Given the description of an element on the screen output the (x, y) to click on. 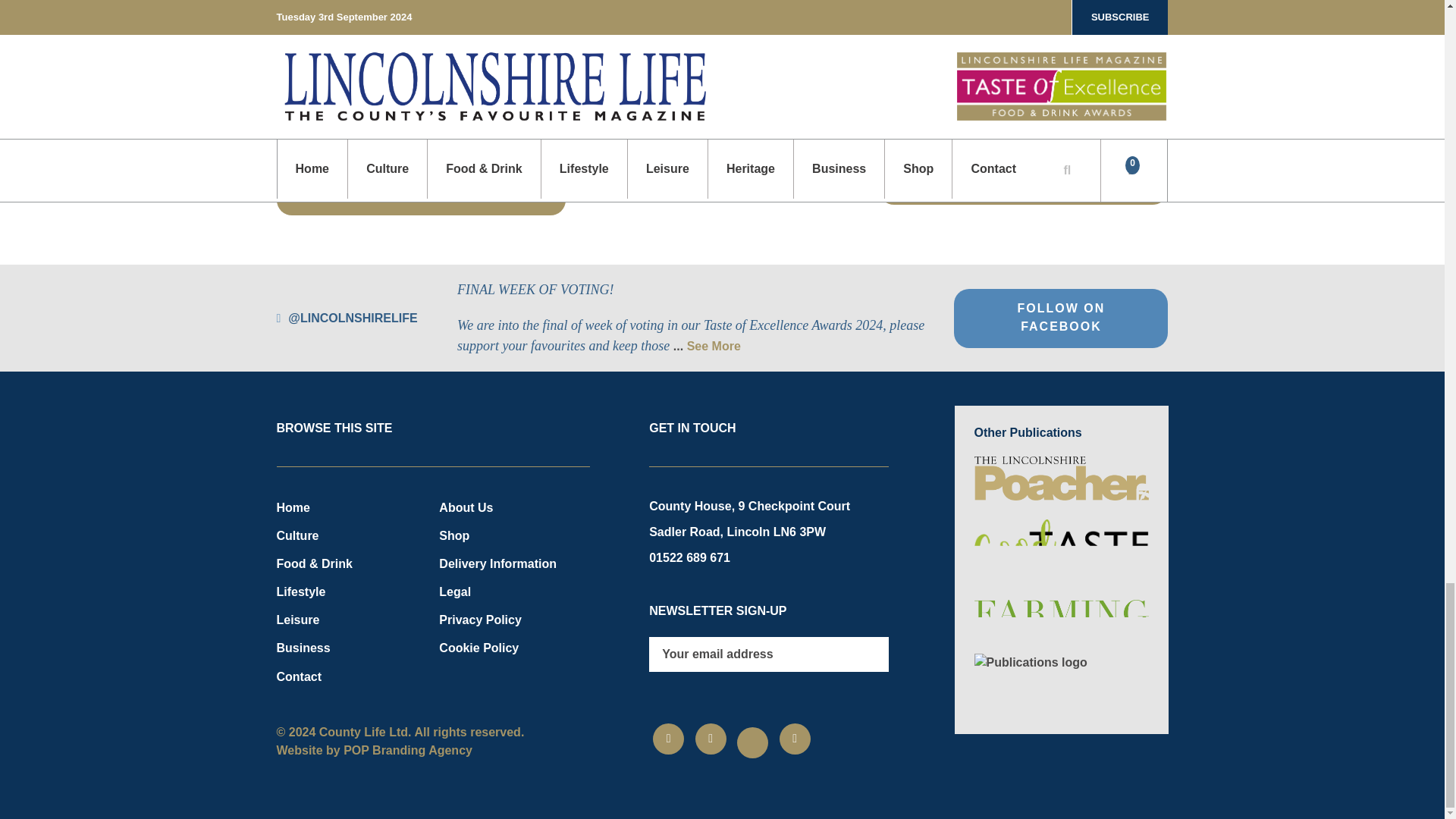
Instagram (710, 738)
Email (794, 738)
Twitter (752, 742)
POP Branding Agency (407, 749)
Facebook (668, 738)
